Given the description of an element on the screen output the (x, y) to click on. 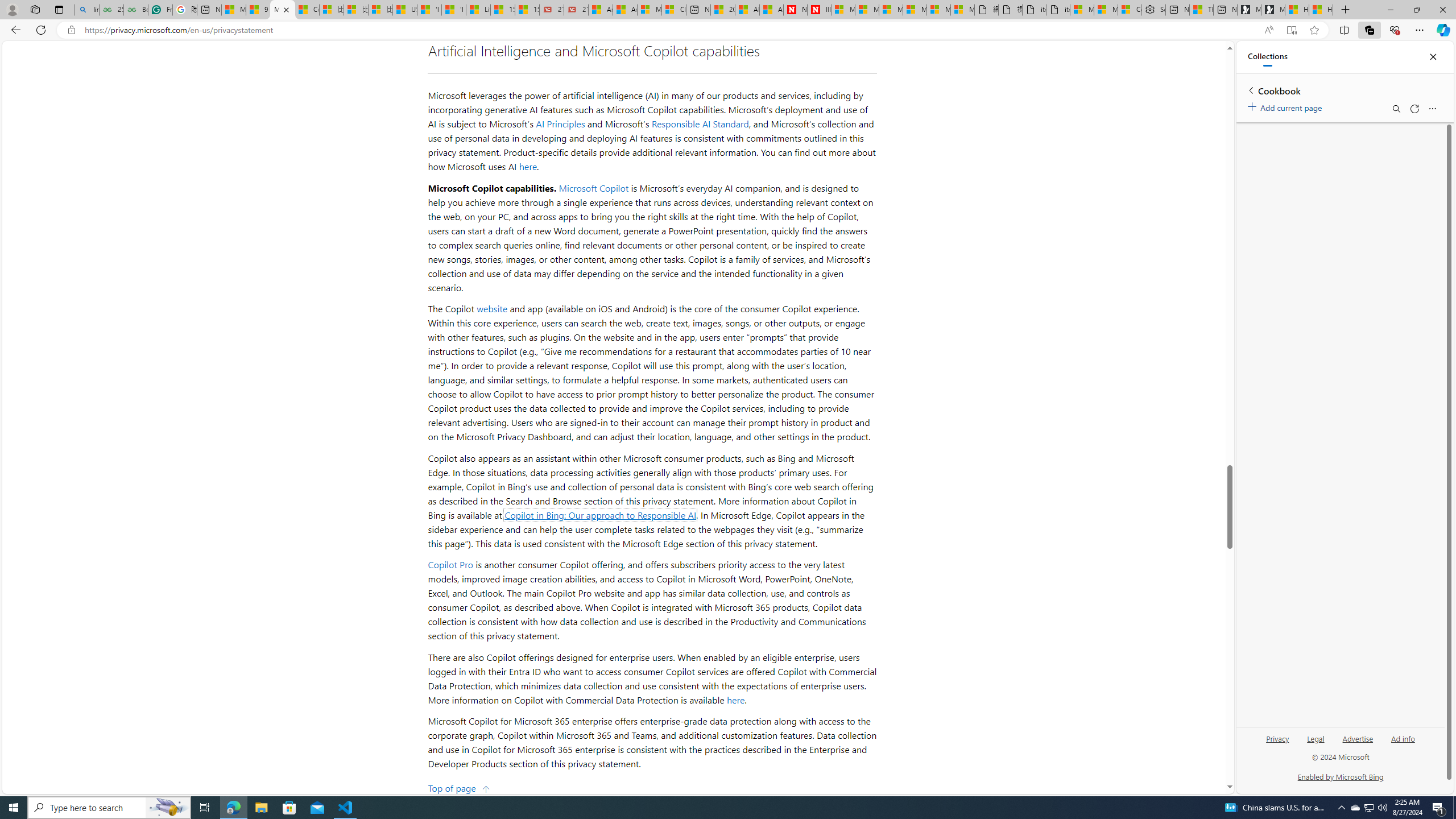
15 Ways Modern Life Contradicts the Teachings of Jesus (526, 9)
Back to list of collections (1250, 90)
Microsoft Copilot (593, 187)
Copilot in Bing: Our approach to Responsible AI (600, 514)
Top of page (459, 787)
21 Movies That Outdid the Books They Were Based On (575, 9)
Illness news & latest pictures from Newsweek.com (818, 9)
